Given the description of an element on the screen output the (x, y) to click on. 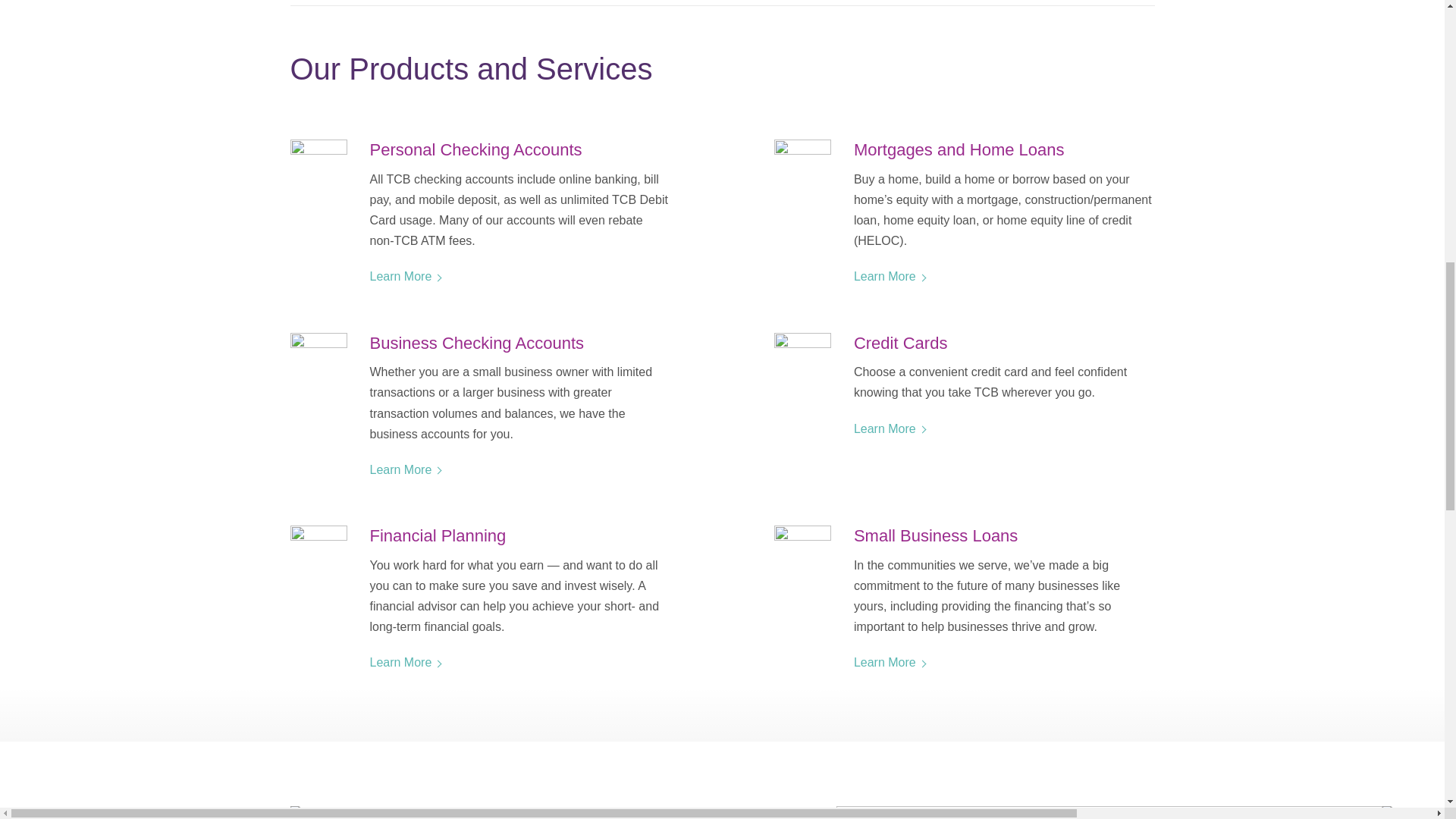
Learn More (884, 427)
Learn More (400, 469)
Learn More (884, 662)
Learn More (884, 276)
Learn More (400, 276)
Learn More (400, 662)
